Given the description of an element on the screen output the (x, y) to click on. 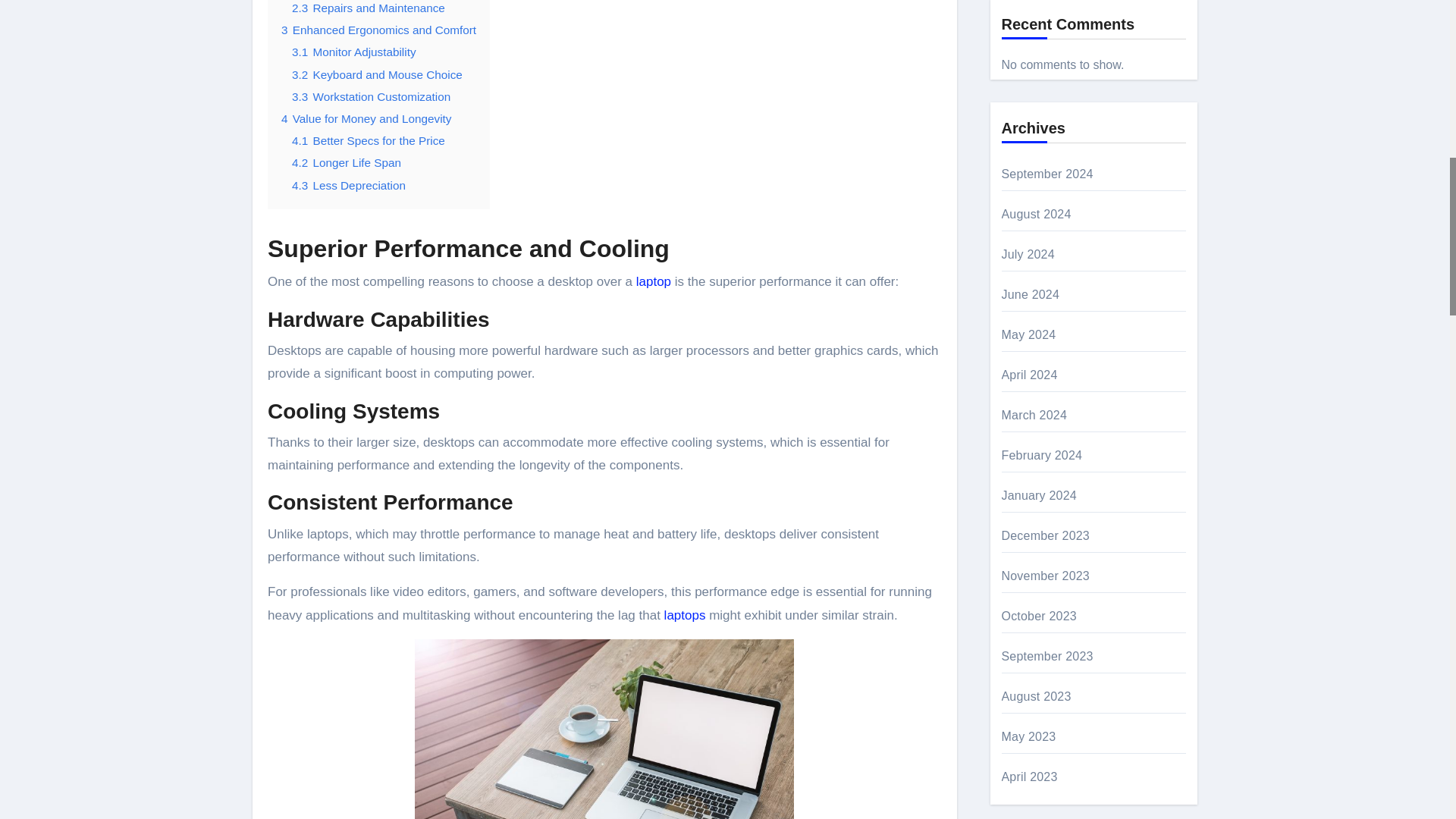
2.3 Repairs and Maintenance (368, 7)
laptop (653, 281)
4 Value for Money and Longevity (366, 118)
4.3 Less Depreciation (349, 185)
3.1 Monitor Adjustability (354, 51)
3.3 Workstation Customization (370, 96)
4.1 Better Specs for the Price (368, 140)
3.2 Keyboard and Mouse Choice (377, 74)
4.2 Longer Life Span (346, 162)
3 Enhanced Ergonomics and Comfort (378, 29)
